Given the description of an element on the screen output the (x, y) to click on. 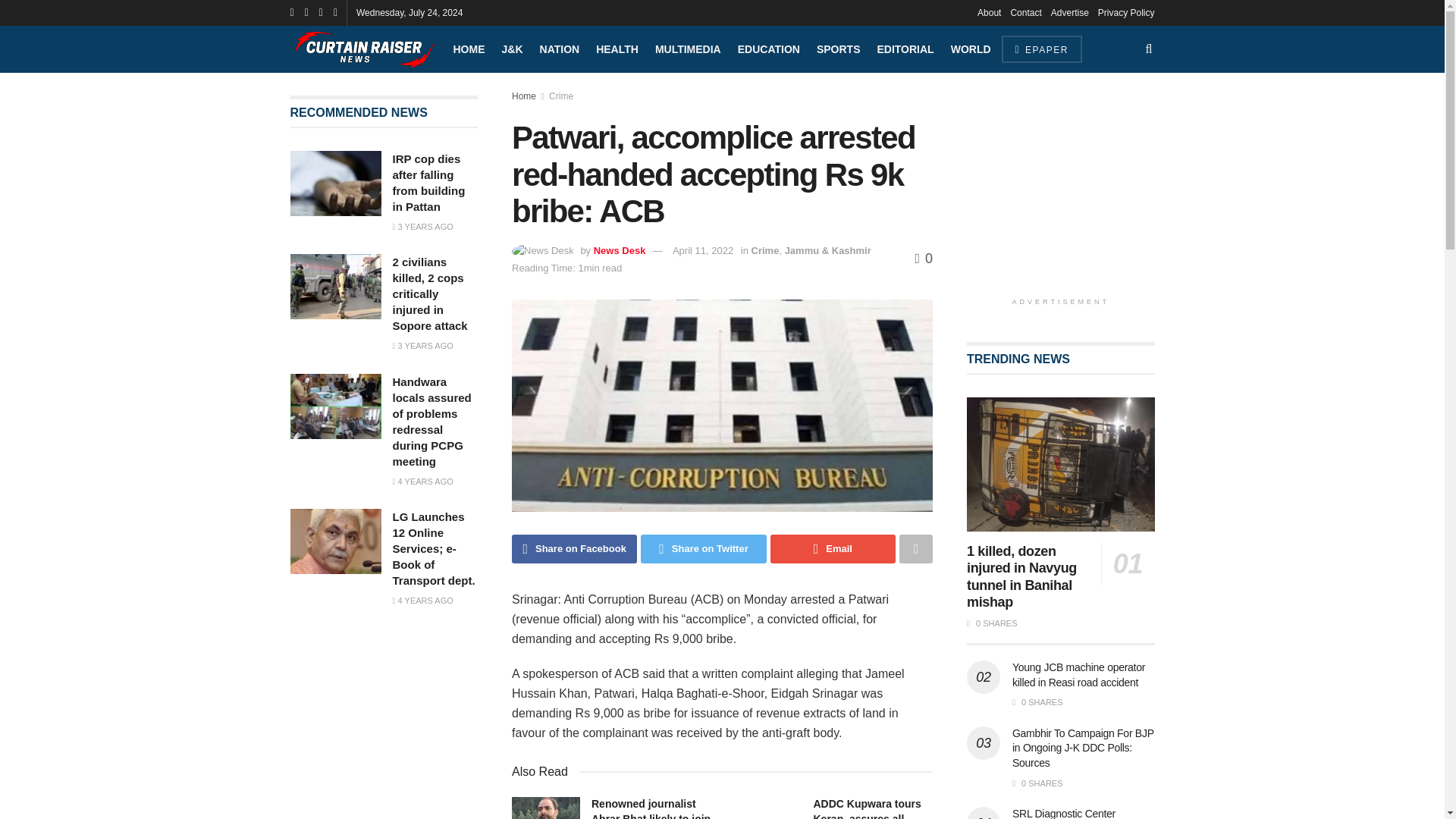
About (988, 12)
Crime (560, 95)
Advertisement (402, 729)
News Desk (620, 250)
NATION (559, 48)
MULTIMEDIA (687, 48)
Advertise (1070, 12)
Contact (1025, 12)
EPAPER (1041, 49)
WORLD (970, 48)
HEALTH (617, 48)
SPORTS (838, 48)
Share on Facebook (574, 548)
Crime (764, 250)
Privacy Policy (1125, 12)
